Given the description of an element on the screen output the (x, y) to click on. 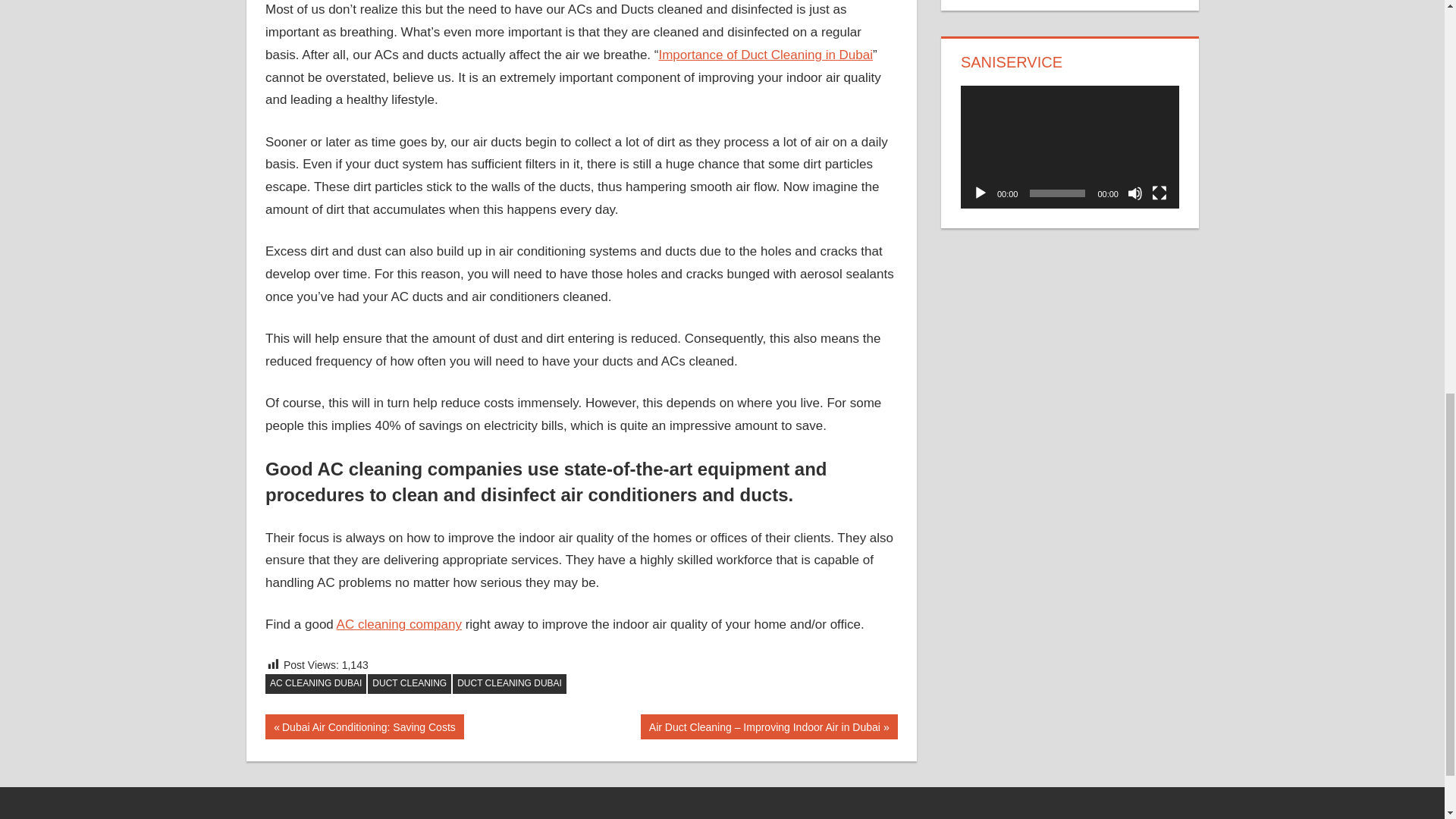
Mute (1134, 192)
AC cleaning company (398, 624)
Fullscreen (364, 726)
DUCT CLEANING DUBAI (1159, 192)
DUCT CLEANING (509, 683)
AC CLEANING DUBAI (409, 683)
Importance of Duct Cleaning in Dubai (315, 683)
Play (765, 54)
